Given the description of an element on the screen output the (x, y) to click on. 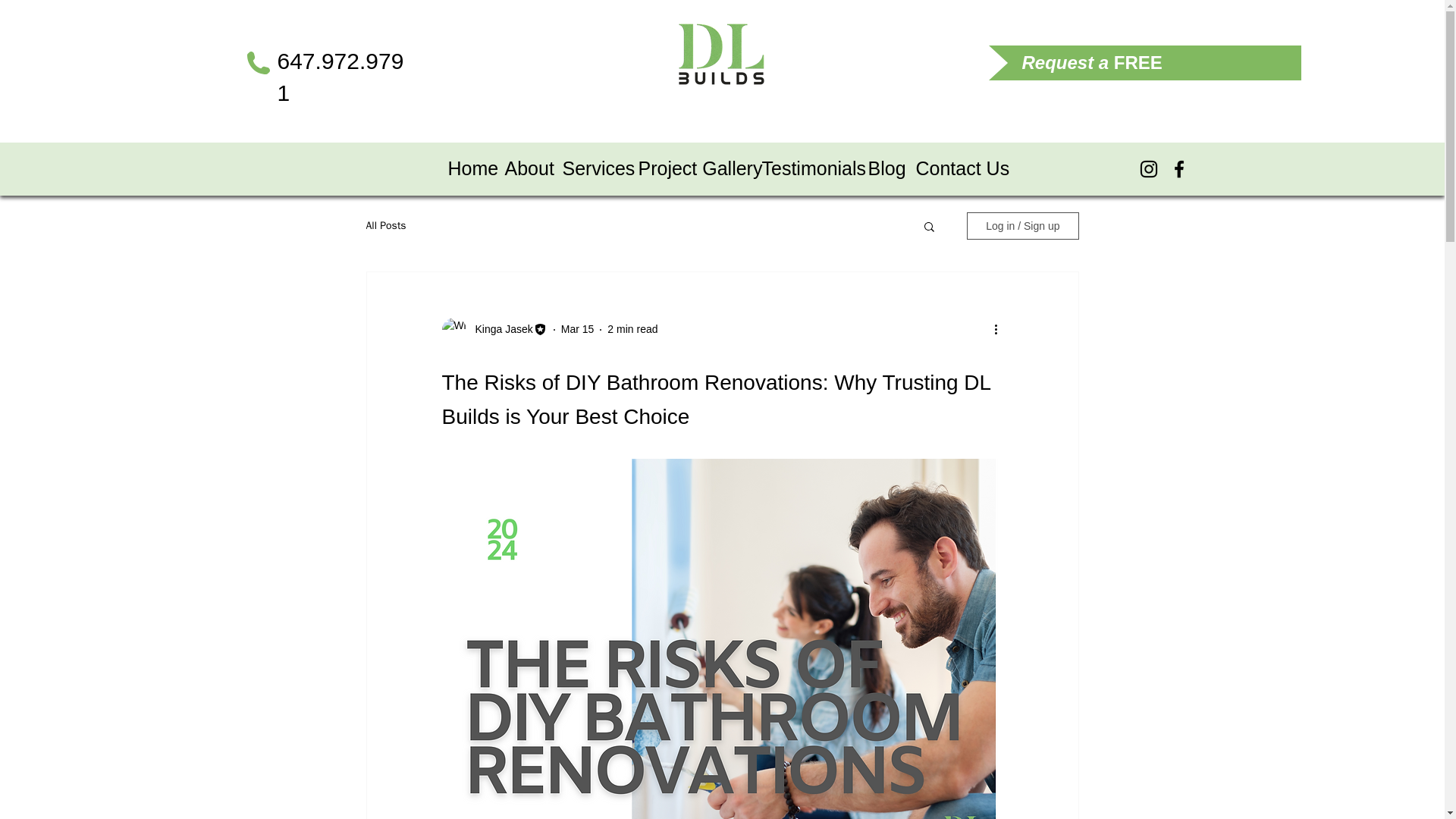
Mar 15 (577, 328)
Testimonials (807, 168)
Project Gallery (692, 168)
Contact Us (955, 168)
Kinga Jasek (498, 329)
2 min read (632, 328)
Home (467, 168)
Blog (883, 168)
647.972.9791 (341, 76)
About (525, 168)
All Posts (385, 225)
Request a FREE ESTIMATE (1091, 75)
